Given the description of an element on the screen output the (x, y) to click on. 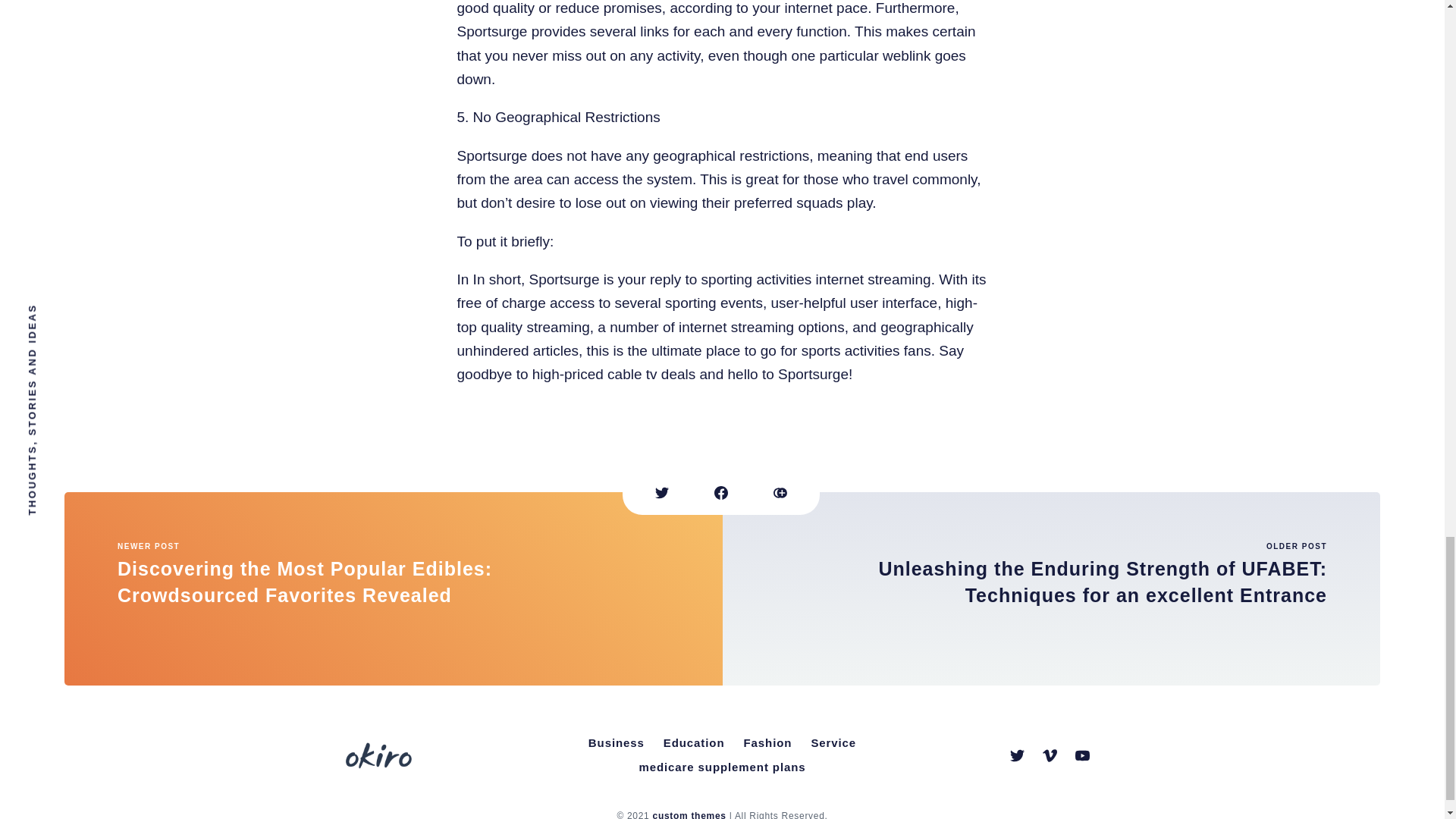
Service (833, 743)
Fashion (767, 743)
Business (616, 743)
custom themes (689, 814)
medicare supplement plans (721, 767)
Education (694, 743)
